Given the description of an element on the screen output the (x, y) to click on. 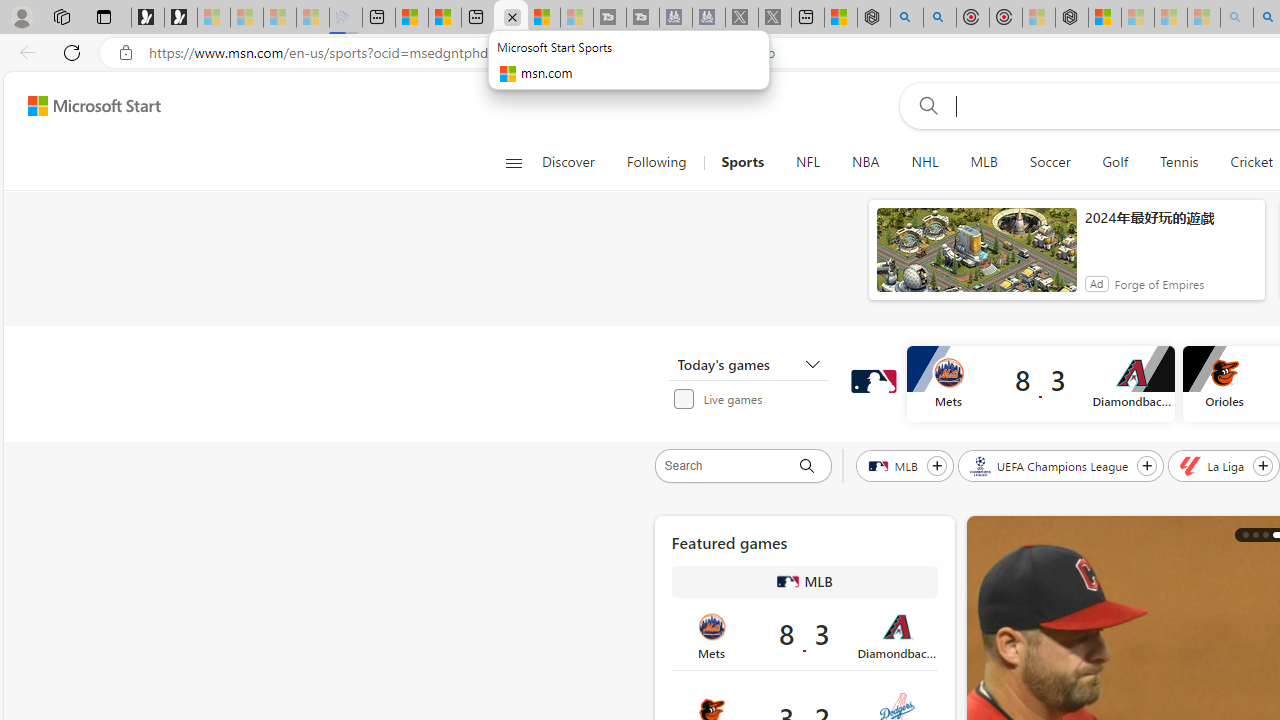
49ers place former starting RB on season-ending IR (1255, 534)
poe ++ standard - Search (940, 17)
NBA (866, 162)
MLB (983, 162)
MLB (788, 582)
Mets 8 vs Diamondbacks 3Time 9:40 AM  (804, 634)
Web search (924, 105)
